Given the description of an element on the screen output the (x, y) to click on. 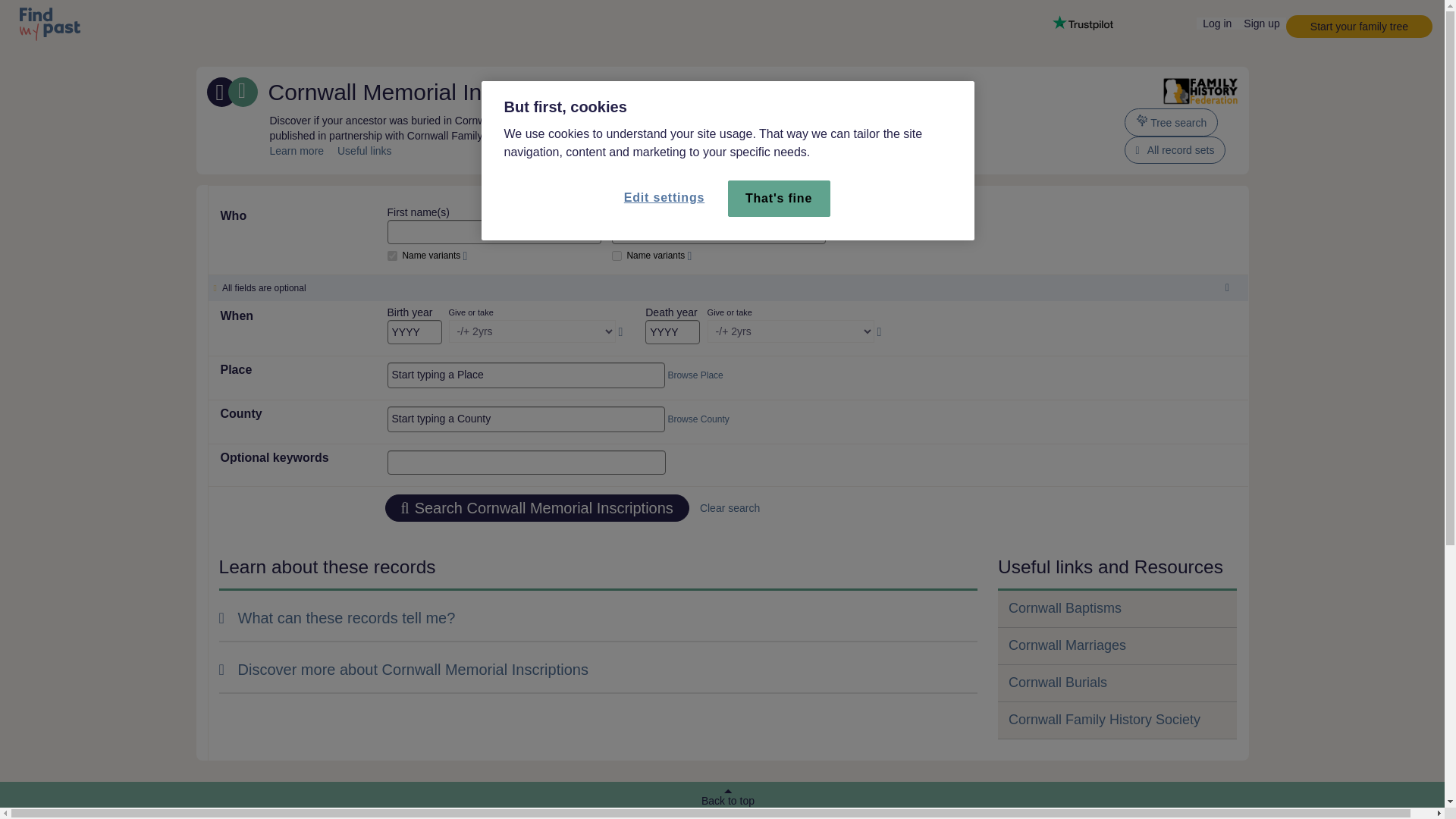
Customer reviews powered by Trustpilot (1082, 22)
Sign up (1261, 23)
Clear search (724, 508)
true (616, 255)
Tree search (1170, 122)
Search Cornwall Memorial Inscriptions (536, 507)
Browse County (697, 419)
Useful links (364, 150)
Learn more (296, 150)
Cornwall Marriages (1067, 645)
Sign up (1261, 22)
Cornwall Burials (1057, 682)
Start your family tree (1358, 26)
Log in (1216, 23)
Browse Place (694, 375)
